Given the description of an element on the screen output the (x, y) to click on. 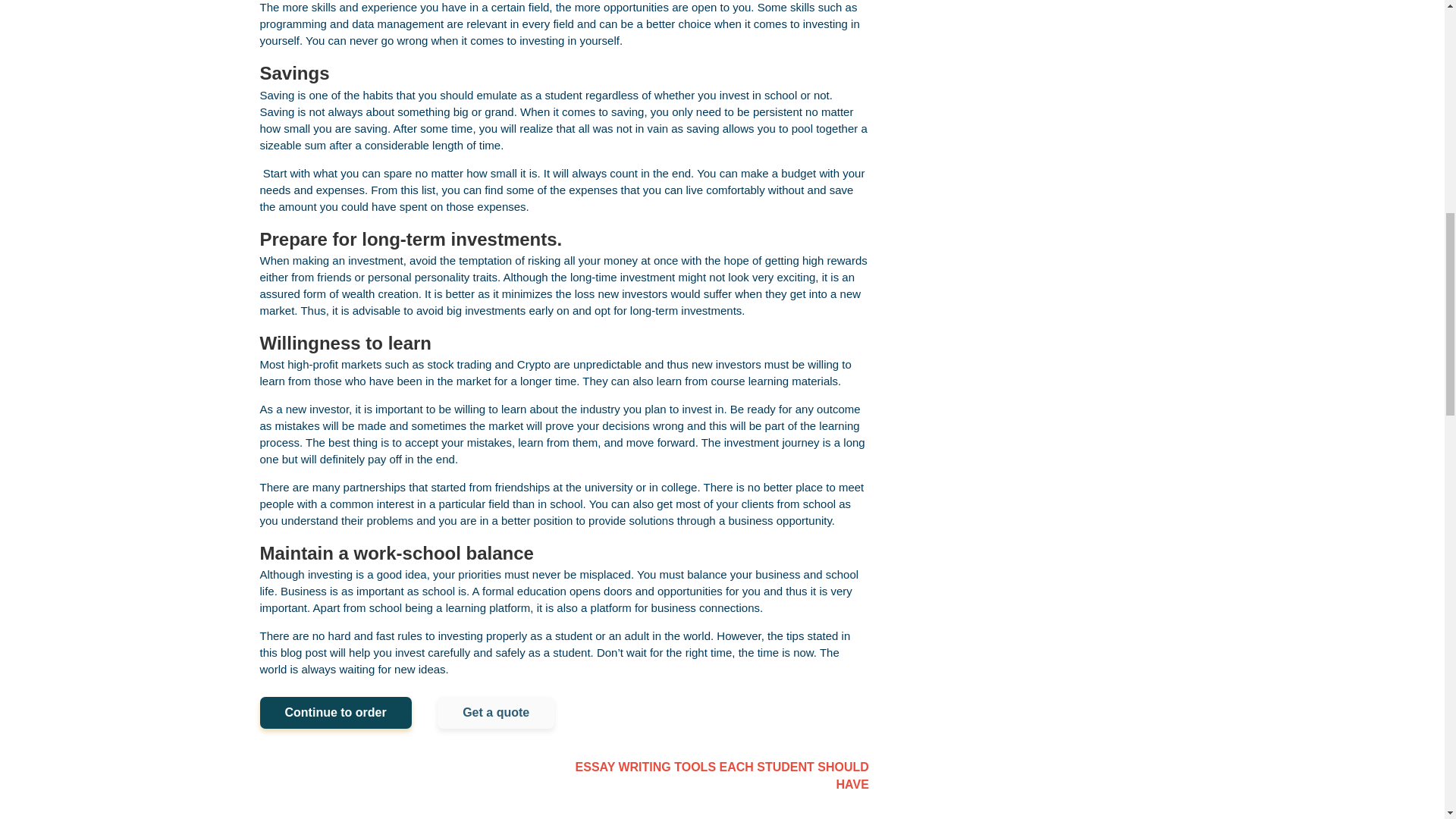
Continue to order (334, 712)
ESSAY WRITING TOOLS EACH STUDENT SHOULD HAVE (716, 776)
Get a quote (496, 712)
